Given the description of an element on the screen output the (x, y) to click on. 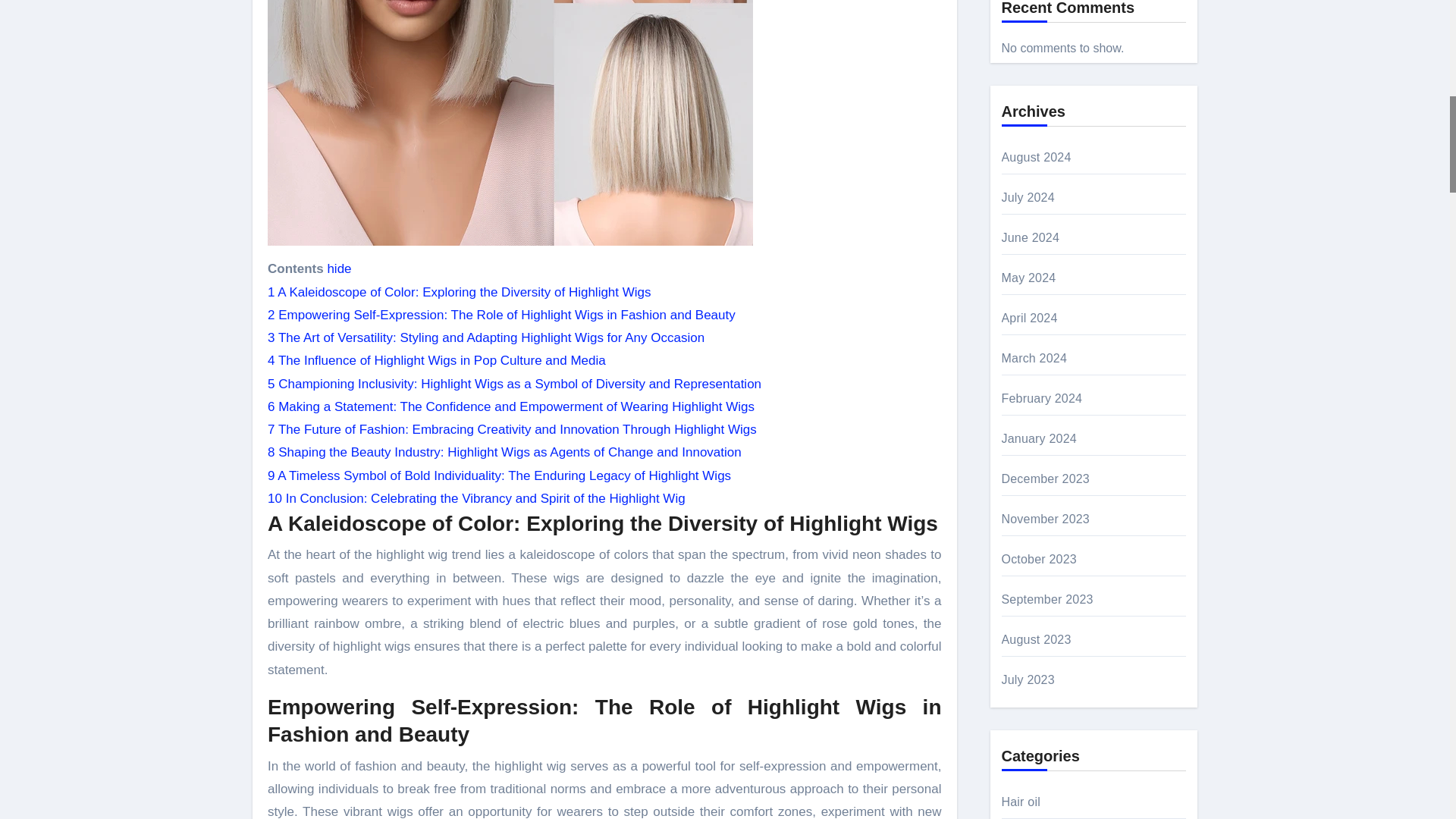
4 The Influence of Highlight Wigs in Pop Culture and Media (436, 359)
hide (338, 268)
